Given the description of an element on the screen output the (x, y) to click on. 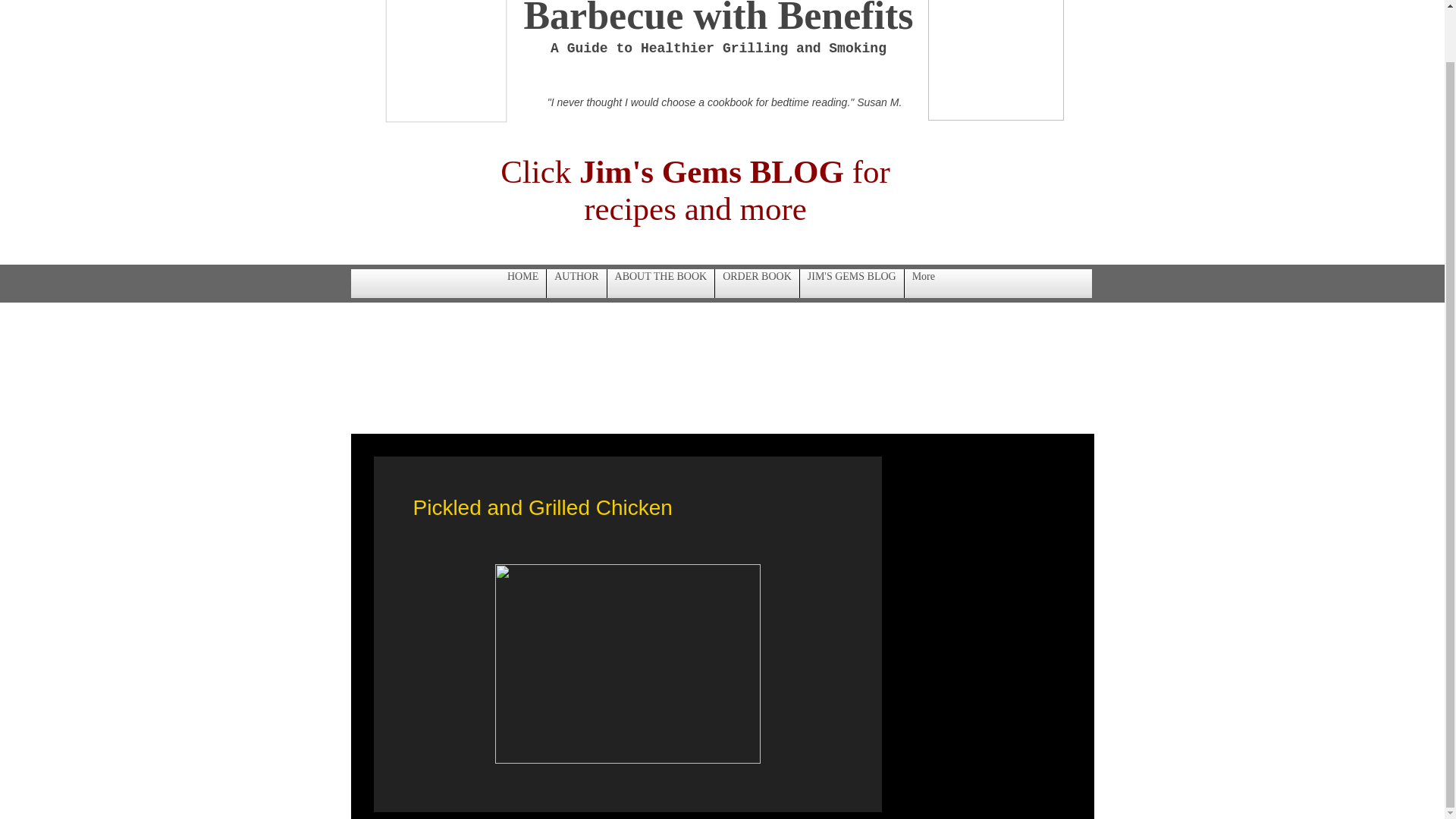
ABOUT THE BOOK (660, 283)
AUTHOR (576, 283)
ORDER BOOK (756, 283)
JIM'S GEMS BLOG (851, 283)
HOME (522, 283)
